Given the description of an element on the screen output the (x, y) to click on. 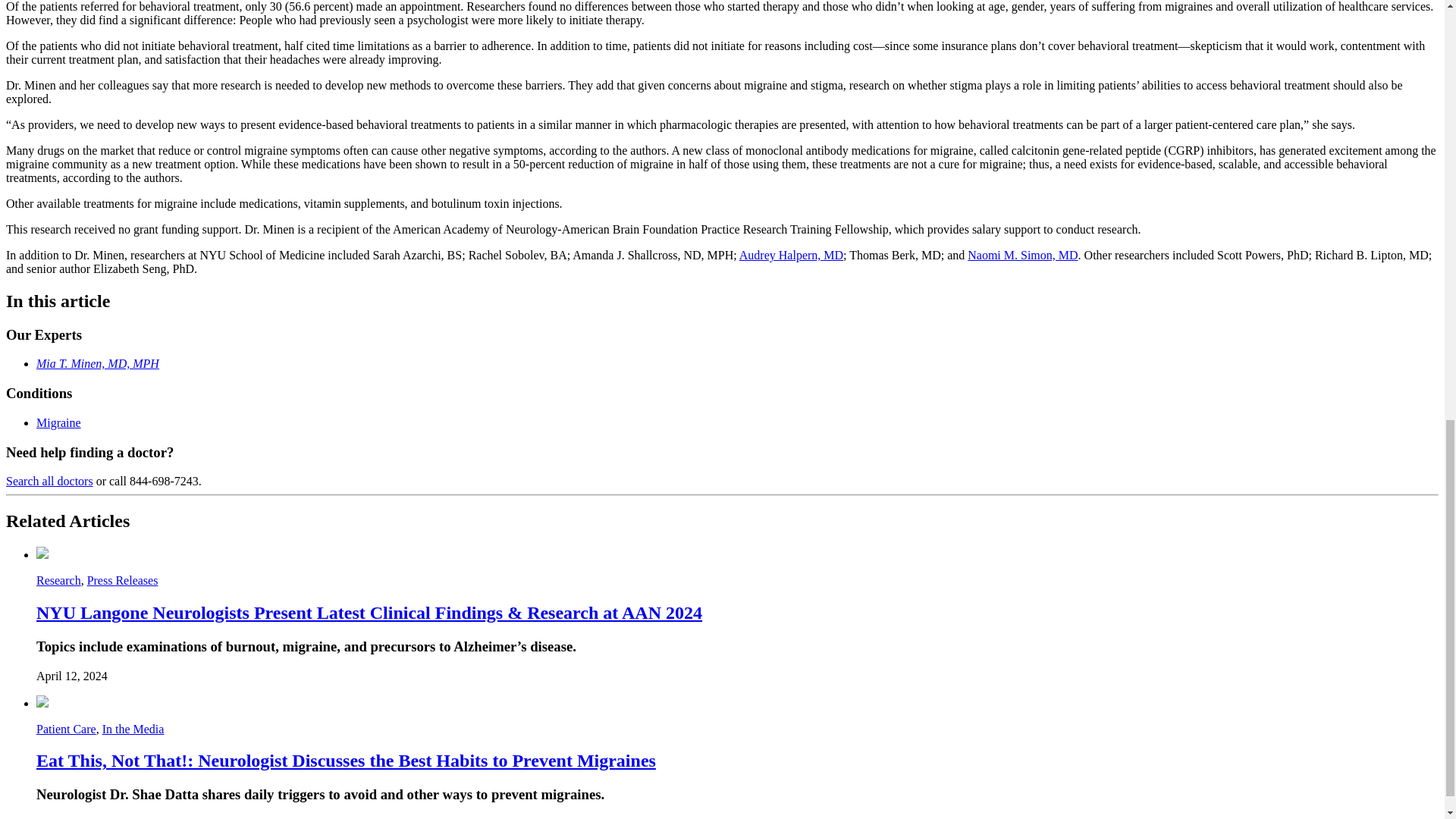
Search all doctors (49, 481)
Naomi M. Simon, MD (1022, 254)
Patient Care (66, 728)
Press Releases (122, 580)
Mia T. Minen, MD, MPH (97, 363)
In the Media (132, 728)
Audrey Halpern, MD (791, 254)
Research (58, 580)
Migraine (58, 422)
